Given the description of an element on the screen output the (x, y) to click on. 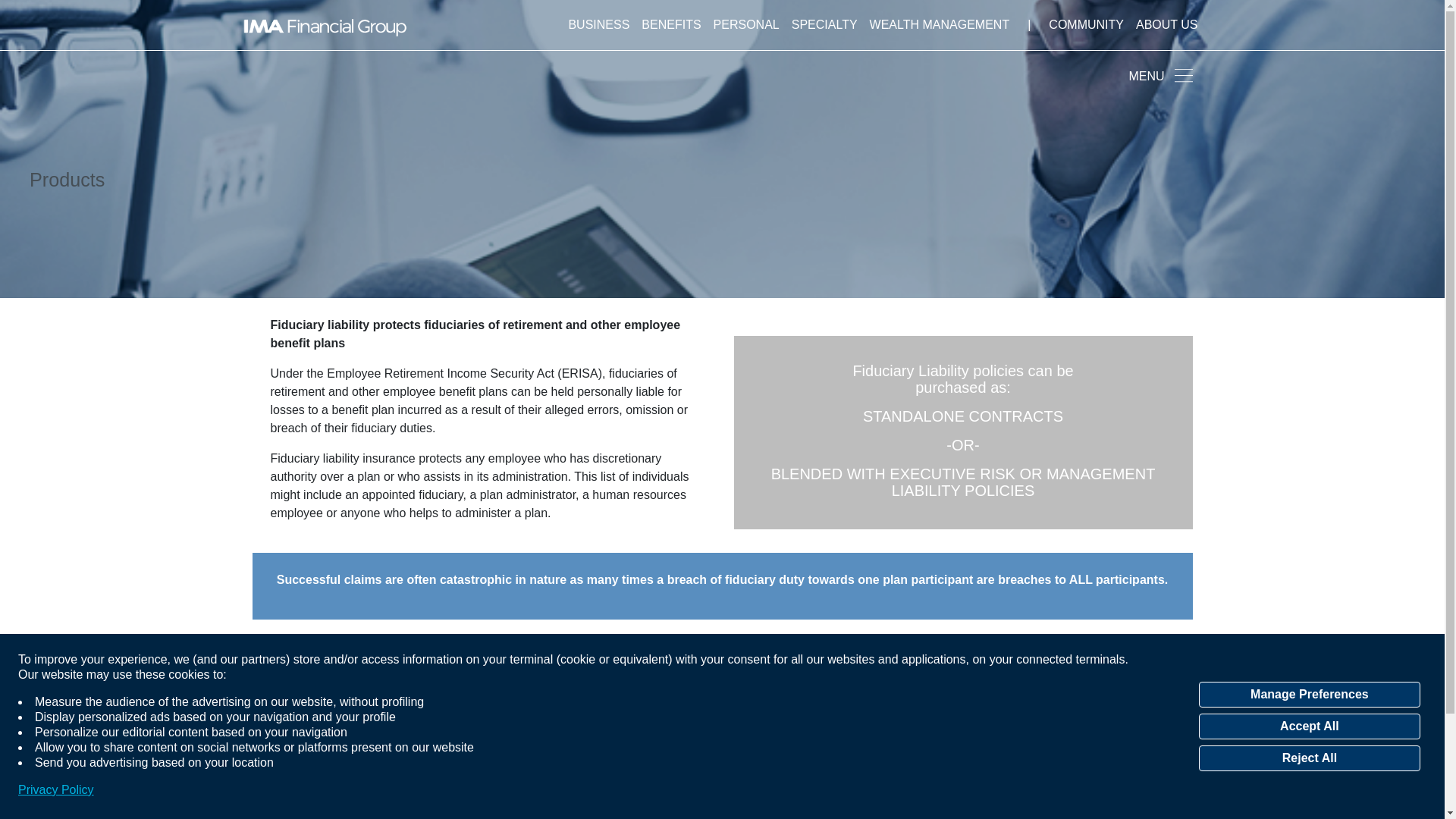
IMA Financial Group (324, 24)
Benefits (670, 24)
Manage Preferences (1309, 694)
Personal (746, 24)
MENU (1090, 75)
Specialty (824, 24)
PERSONAL (746, 24)
Products (66, 179)
WEALTH MANAGEMENT (939, 24)
Community (1085, 24)
